Given the description of an element on the screen output the (x, y) to click on. 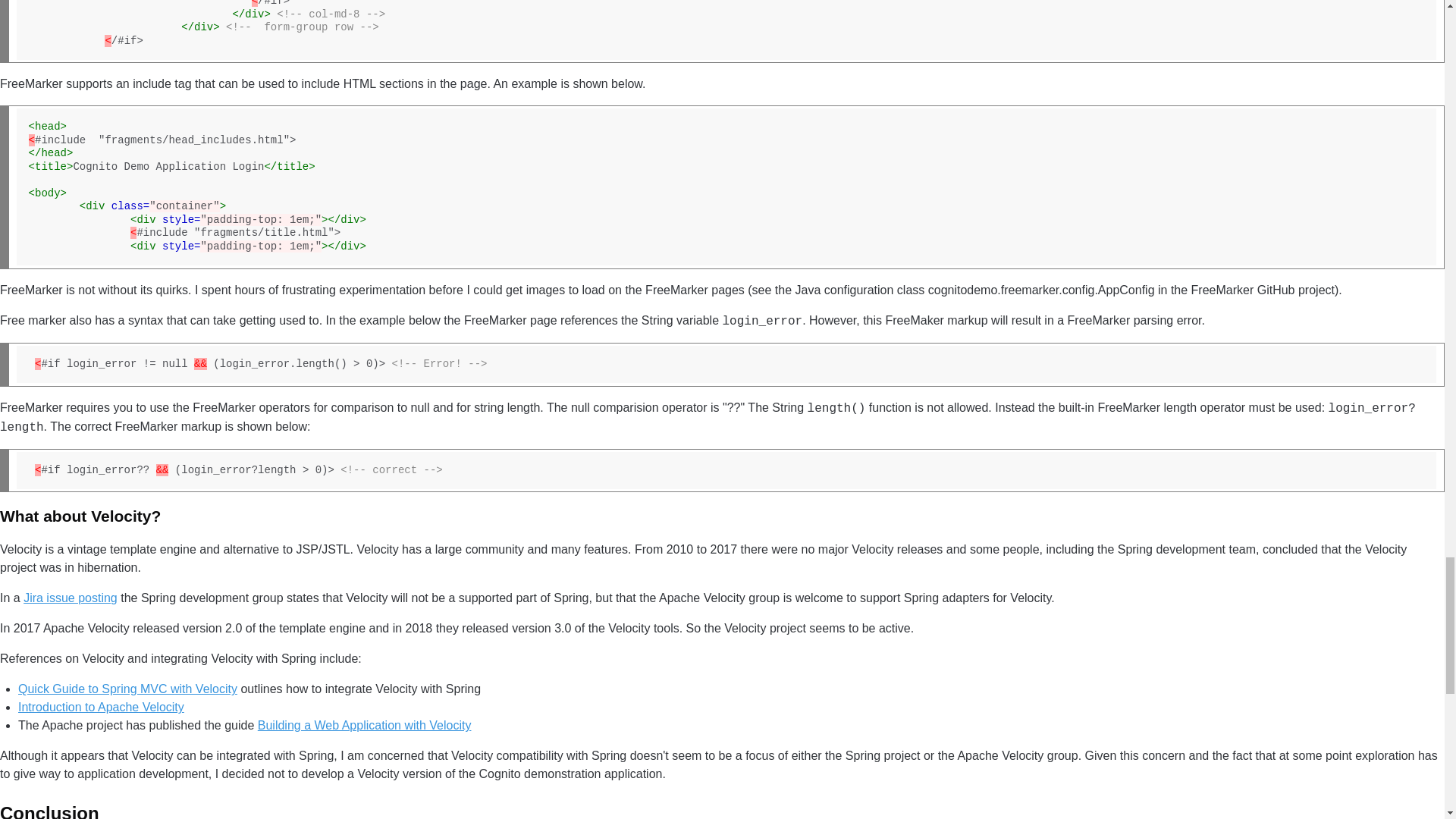
Introduction to Apache Velocity (100, 707)
Jira issue posting (70, 597)
Quick Guide to Spring MVC with Velocity (127, 688)
Building a Web Application with Velocity (364, 725)
